Given the description of an element on the screen output the (x, y) to click on. 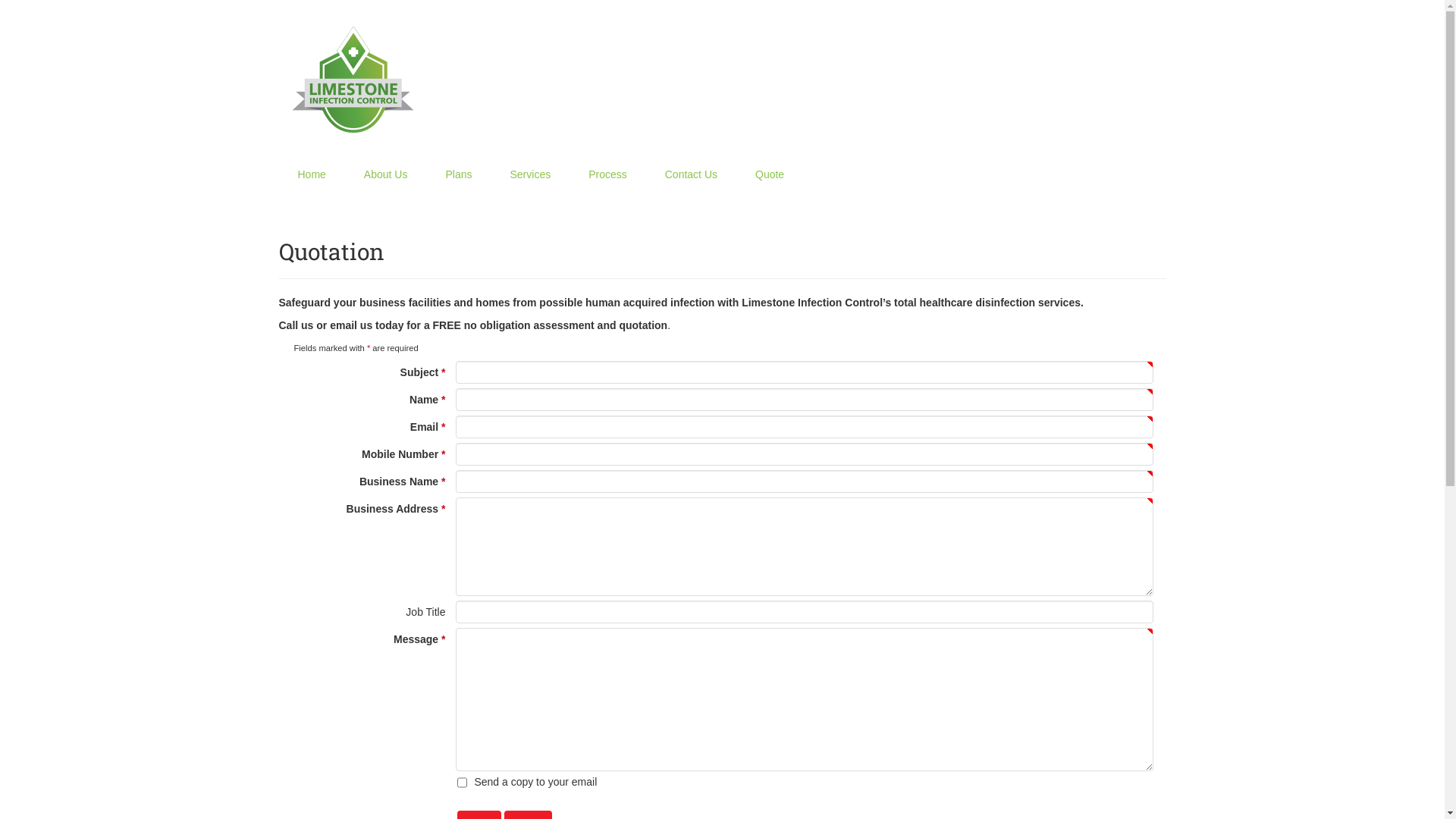
Contact Us Element type: text (691, 174)
Process Element type: text (607, 174)
About Us Element type: text (385, 174)
Services Element type: text (529, 174)
Plans Element type: text (458, 174)
Home Element type: text (312, 174)
Quote Element type: text (769, 174)
